Given the description of an element on the screen output the (x, y) to click on. 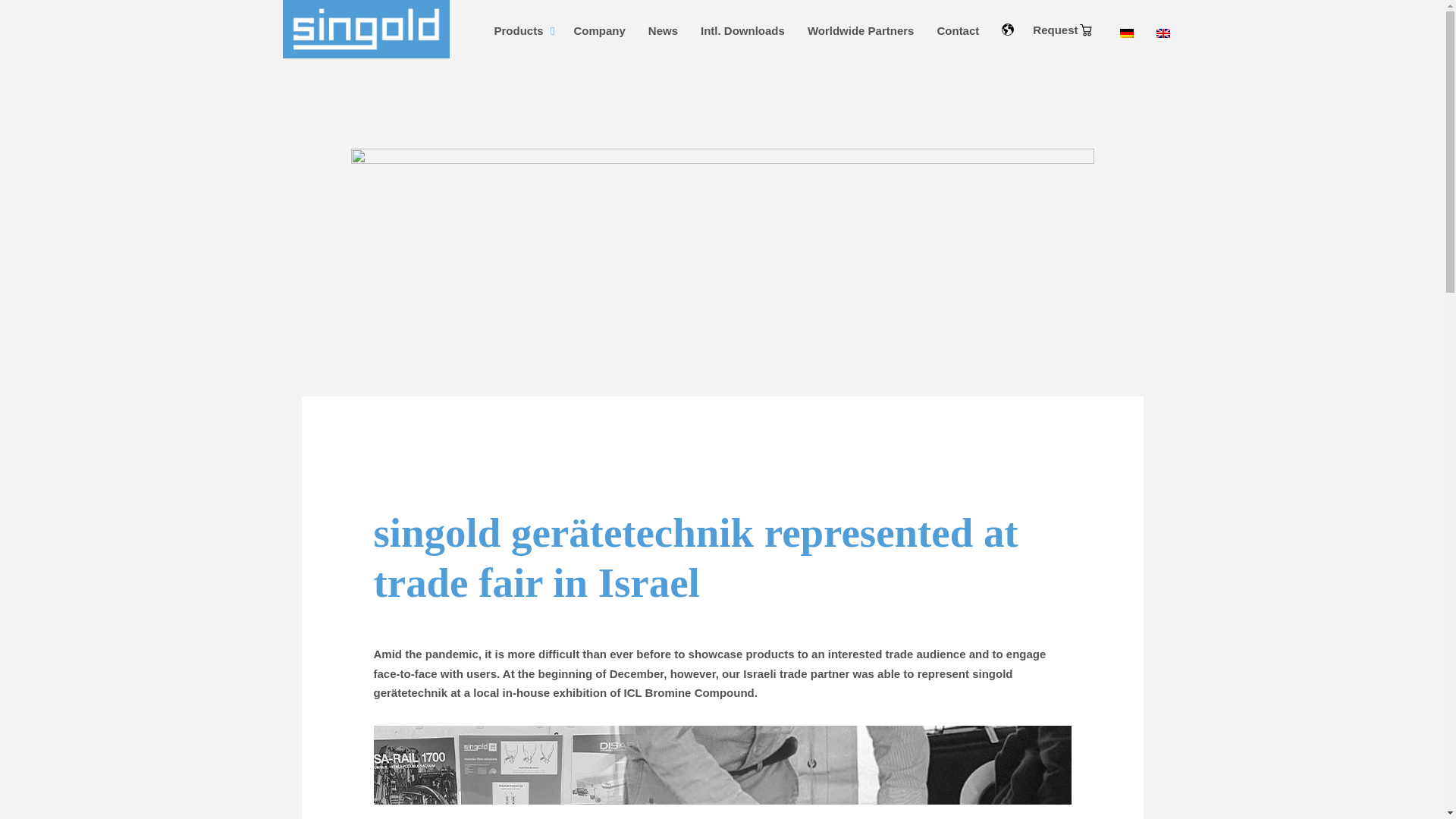
Intl. Downloads (742, 30)
Products (521, 30)
News (662, 30)
Global (1085, 29)
Contact (957, 30)
Request (1062, 30)
Worldwide Partners (861, 30)
Company (599, 30)
